Given the description of an element on the screen output the (x, y) to click on. 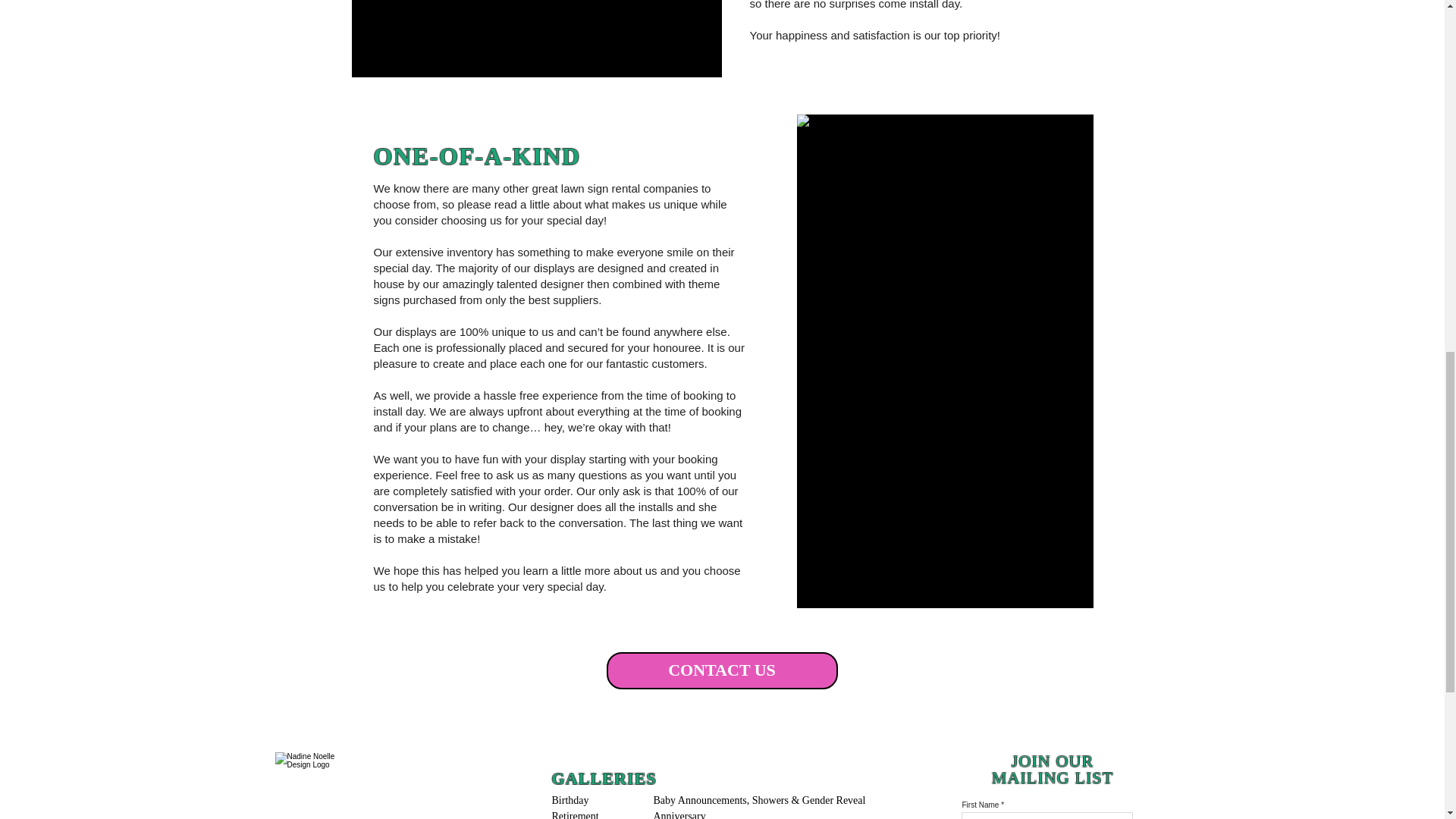
Retirement  (576, 814)
Birthday  (571, 799)
Anniversary  (681, 814)
CONTACT US (722, 670)
